Given the description of an element on the screen output the (x, y) to click on. 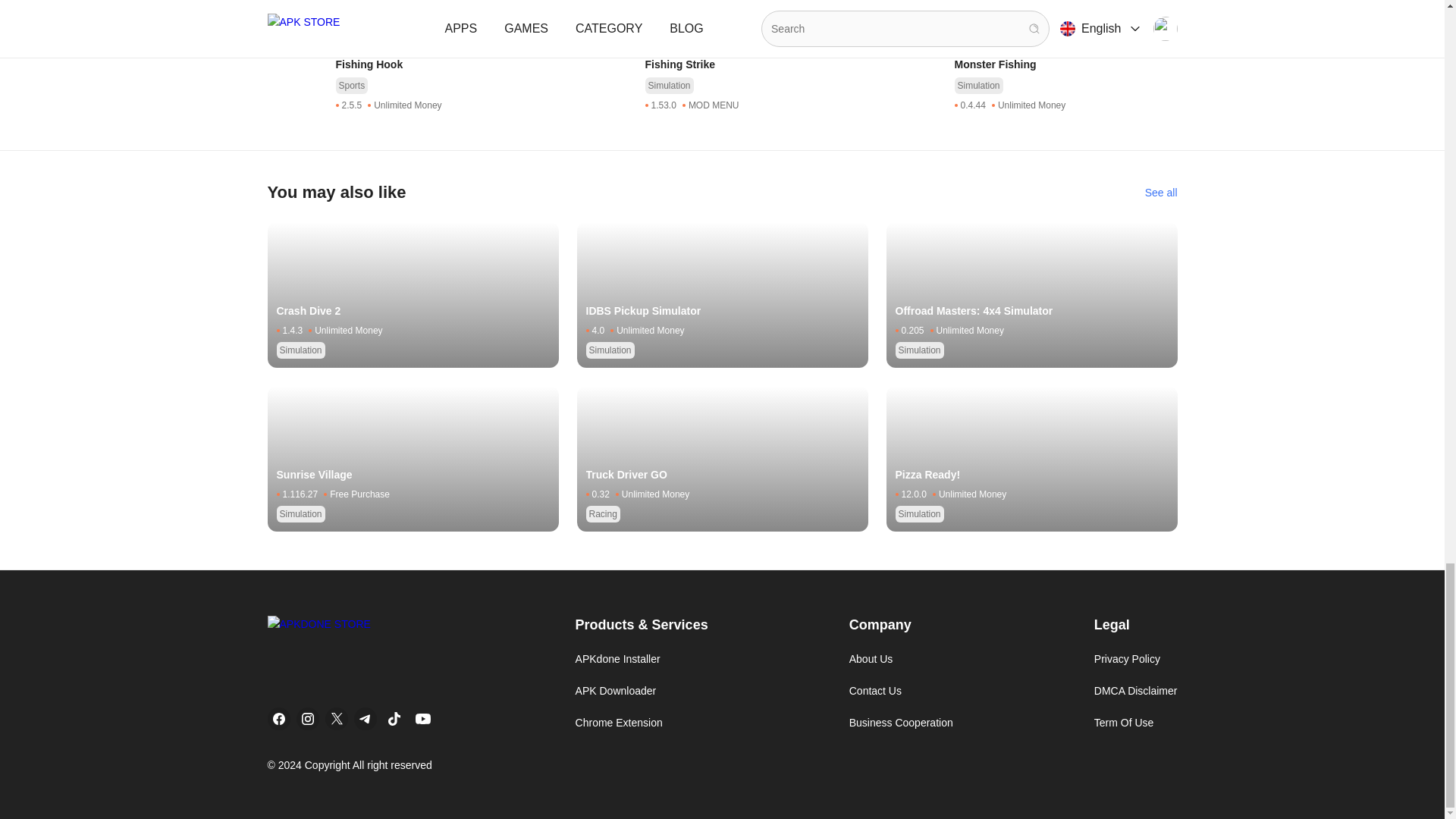
Simulation (359, 11)
